Given the description of an element on the screen output the (x, y) to click on. 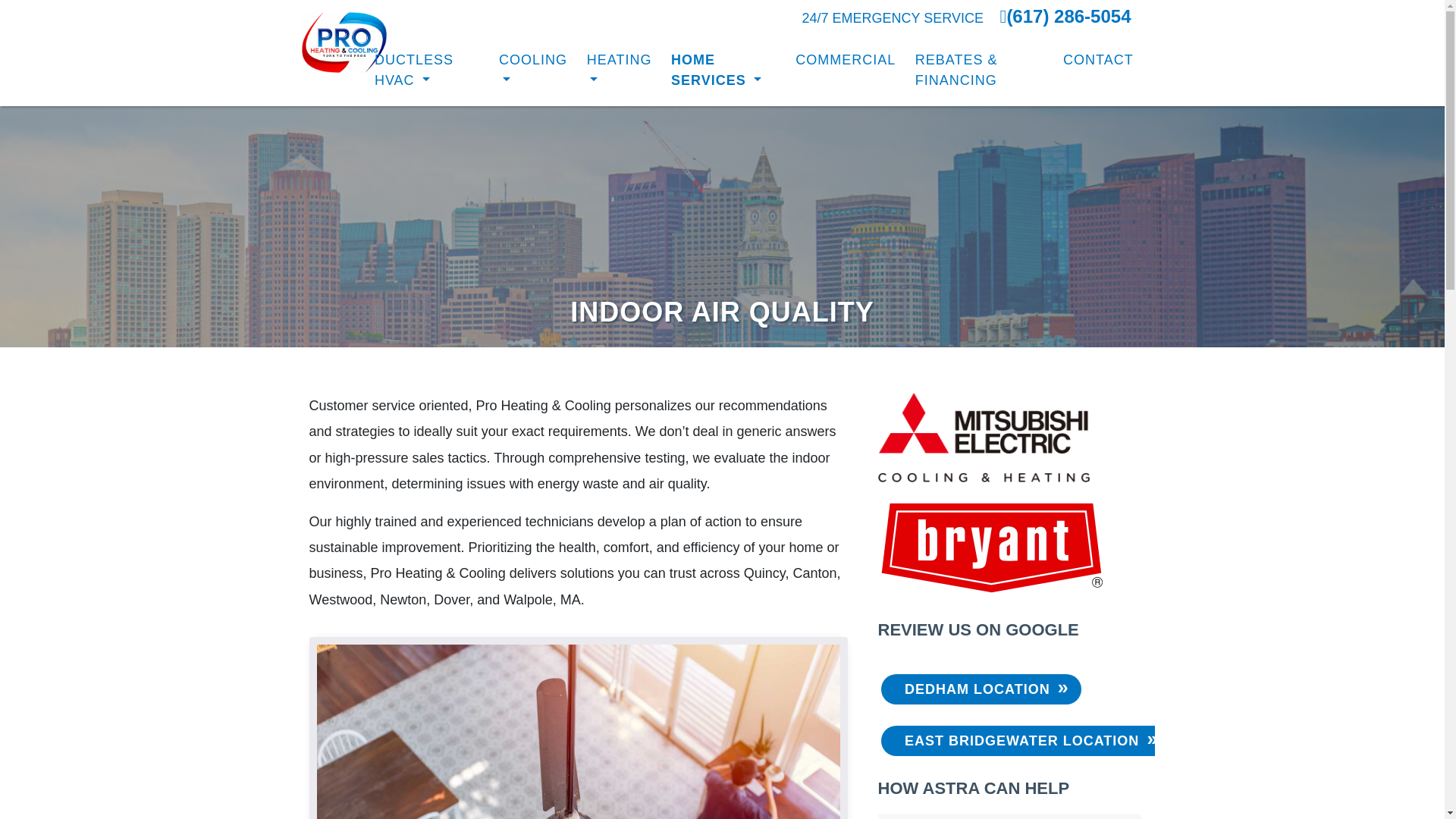
COMMERCIAL (845, 60)
COOLING (532, 70)
HEATING (618, 70)
CONTACT (1097, 60)
HOME SERVICES (723, 70)
HOME (333, 60)
DUCTLESS HVAC (427, 70)
